Given the description of an element on the screen output the (x, y) to click on. 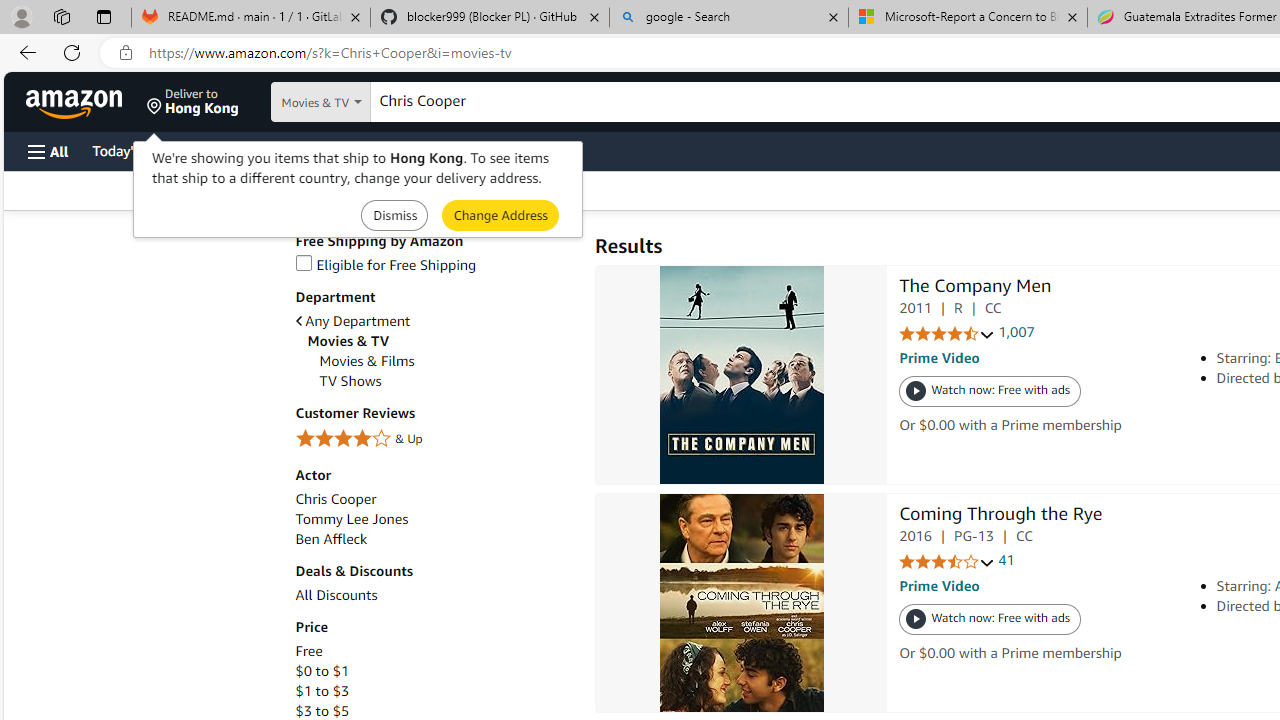
Chris Cooper (434, 499)
Free (434, 651)
Eligible for Free Shipping (434, 265)
All Discounts (335, 595)
Free (308, 651)
Ben Affleck (331, 538)
Chris Cooper (335, 499)
Tommy Lee Jones (351, 519)
$0 to $1 (321, 671)
Coming Through the Rye (1000, 516)
4.4 out of 5 stars (946, 334)
3.3 out of 5 stars (946, 562)
